Given the description of an element on the screen output the (x, y) to click on. 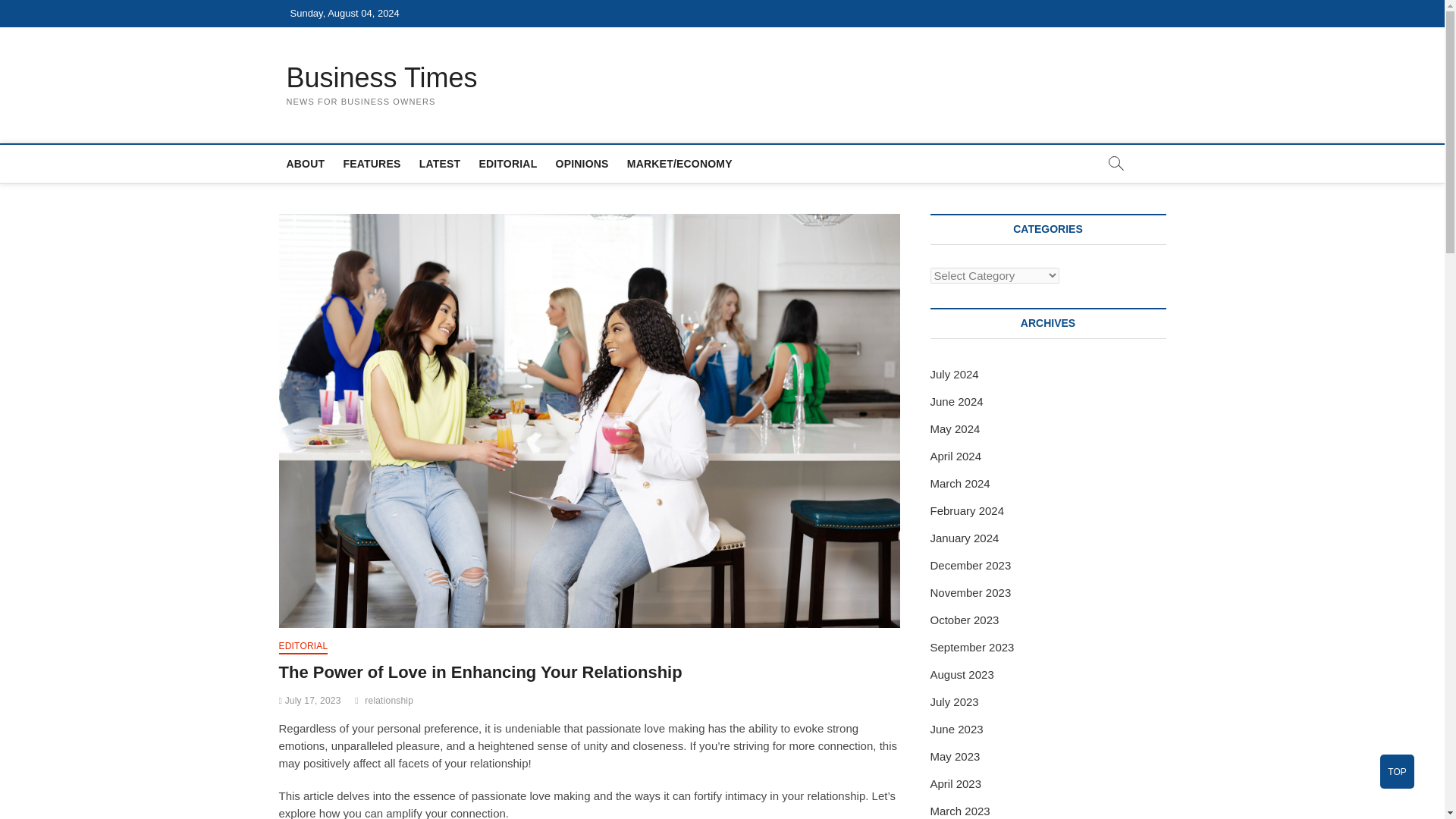
January 2024 (964, 537)
Business Times (381, 78)
LATEST (440, 163)
November 2023 (970, 592)
March 2024 (960, 482)
July 2024 (954, 373)
OPINIONS (581, 163)
June 2024 (956, 400)
September 2023 (971, 646)
May 2023 (954, 756)
ABOUT (306, 163)
Business Times (381, 78)
October 2023 (964, 619)
August 2023 (961, 674)
February 2024 (967, 510)
